Given the description of an element on the screen output the (x, y) to click on. 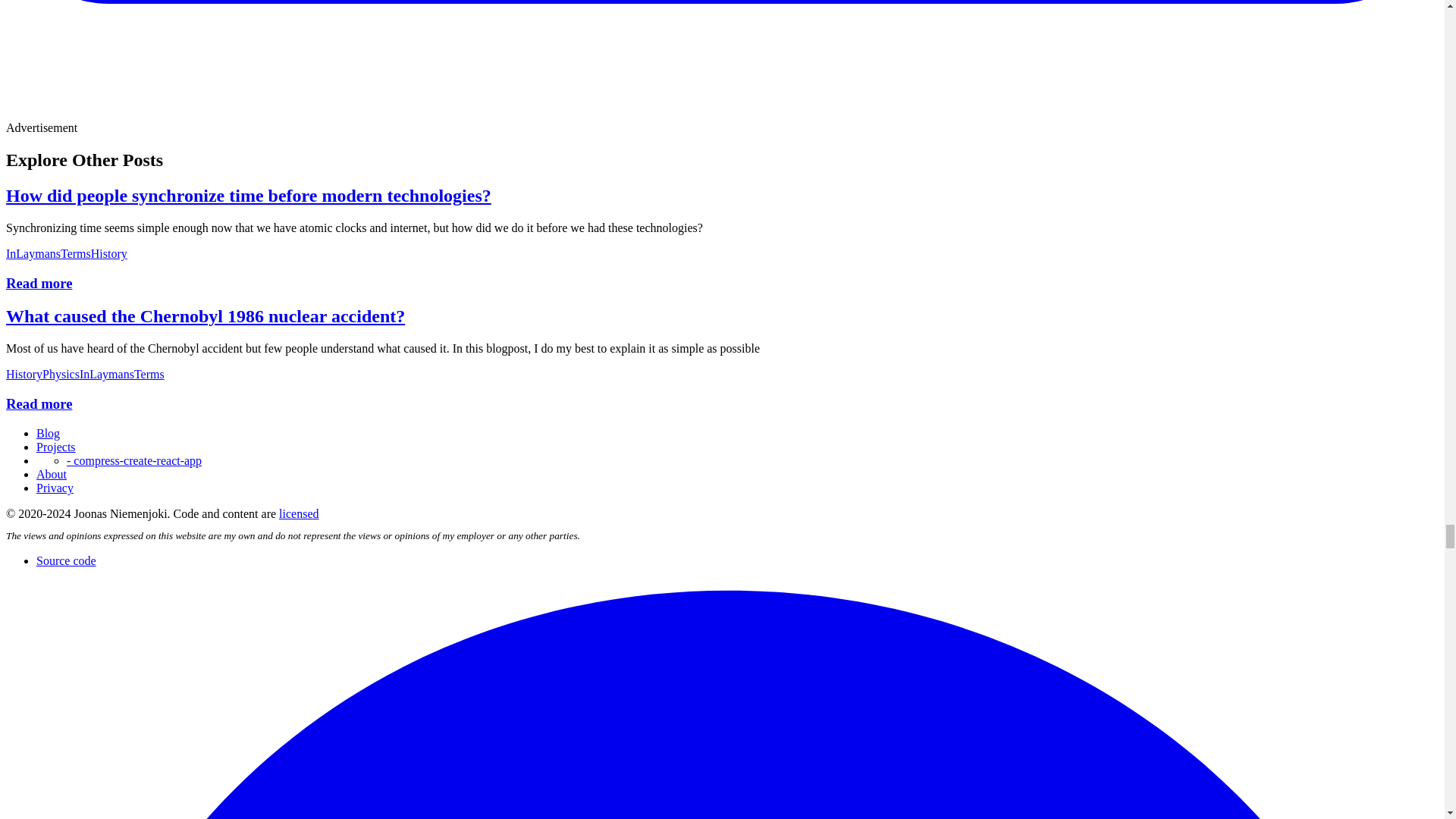
- compress-create-react-app (134, 460)
History (109, 253)
What caused the Chernobyl 1986 nuclear accident? (204, 315)
Privacy (55, 487)
Blog (47, 432)
InLaymansTerms (122, 373)
About (51, 473)
Projects (55, 446)
InLaymansTerms (47, 253)
How did people synchronize time before modern technologies? (248, 195)
History (23, 373)
Source code (66, 560)
Physics (61, 373)
licensed (298, 513)
